Given the description of an element on the screen output the (x, y) to click on. 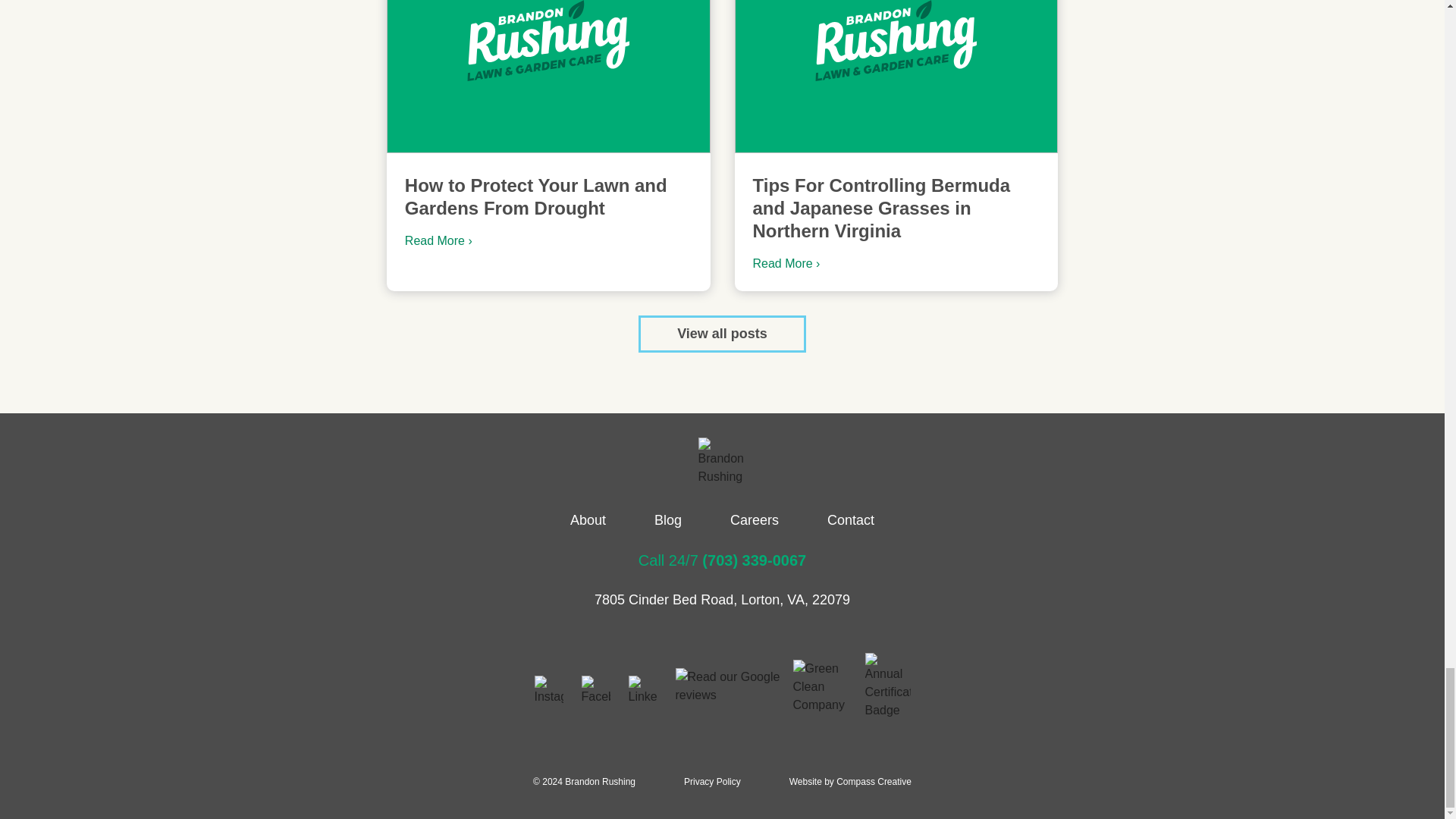
About (587, 519)
Contact (851, 519)
Privacy Policy (712, 781)
Careers (754, 519)
View all posts (722, 333)
Blog (667, 519)
